Given the description of an element on the screen output the (x, y) to click on. 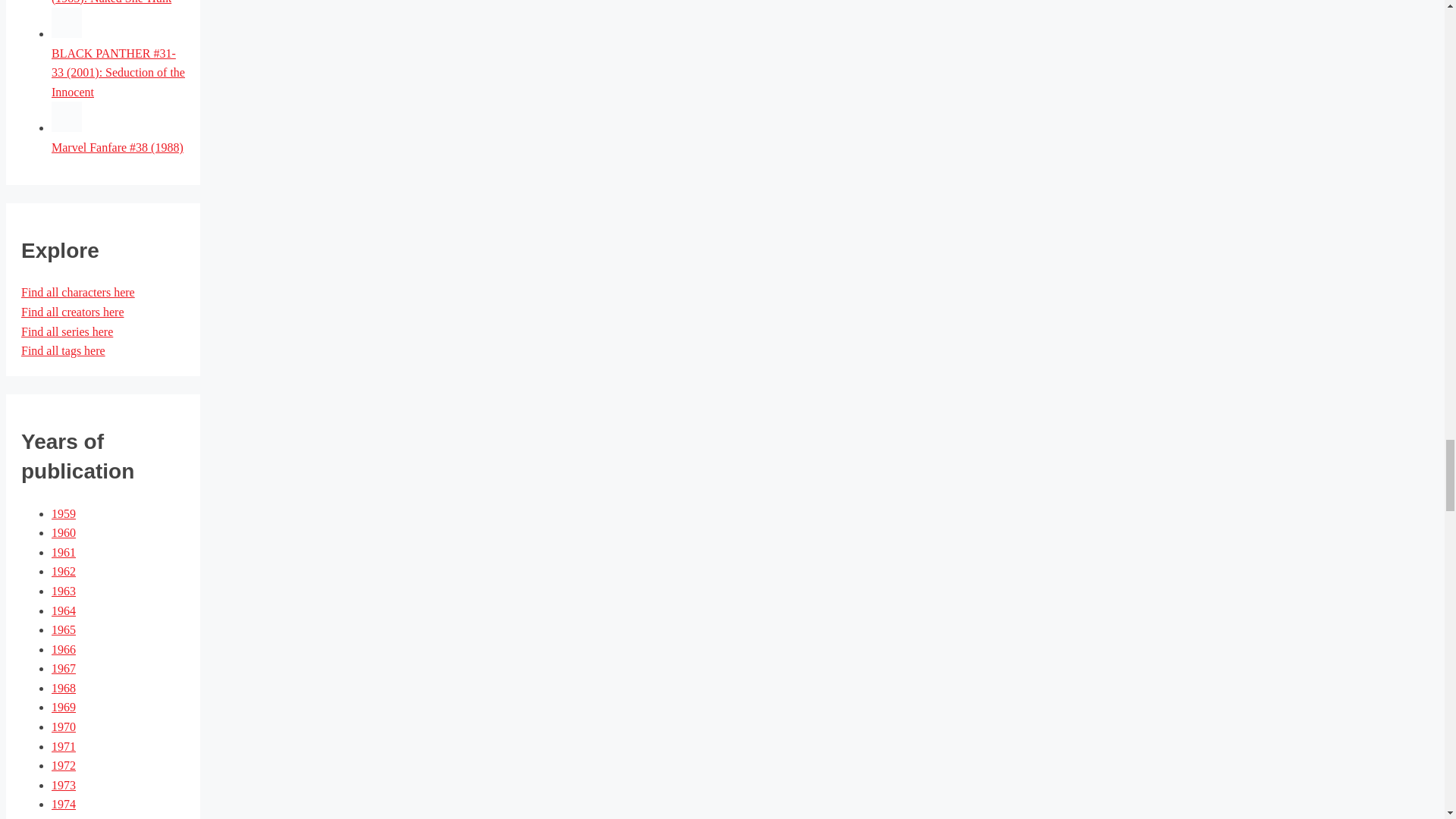
Find all series here (67, 330)
Find all creators here (72, 311)
Find all characters here (78, 291)
Find all tags here (62, 350)
1959 (62, 513)
